Given the description of an element on the screen output the (x, y) to click on. 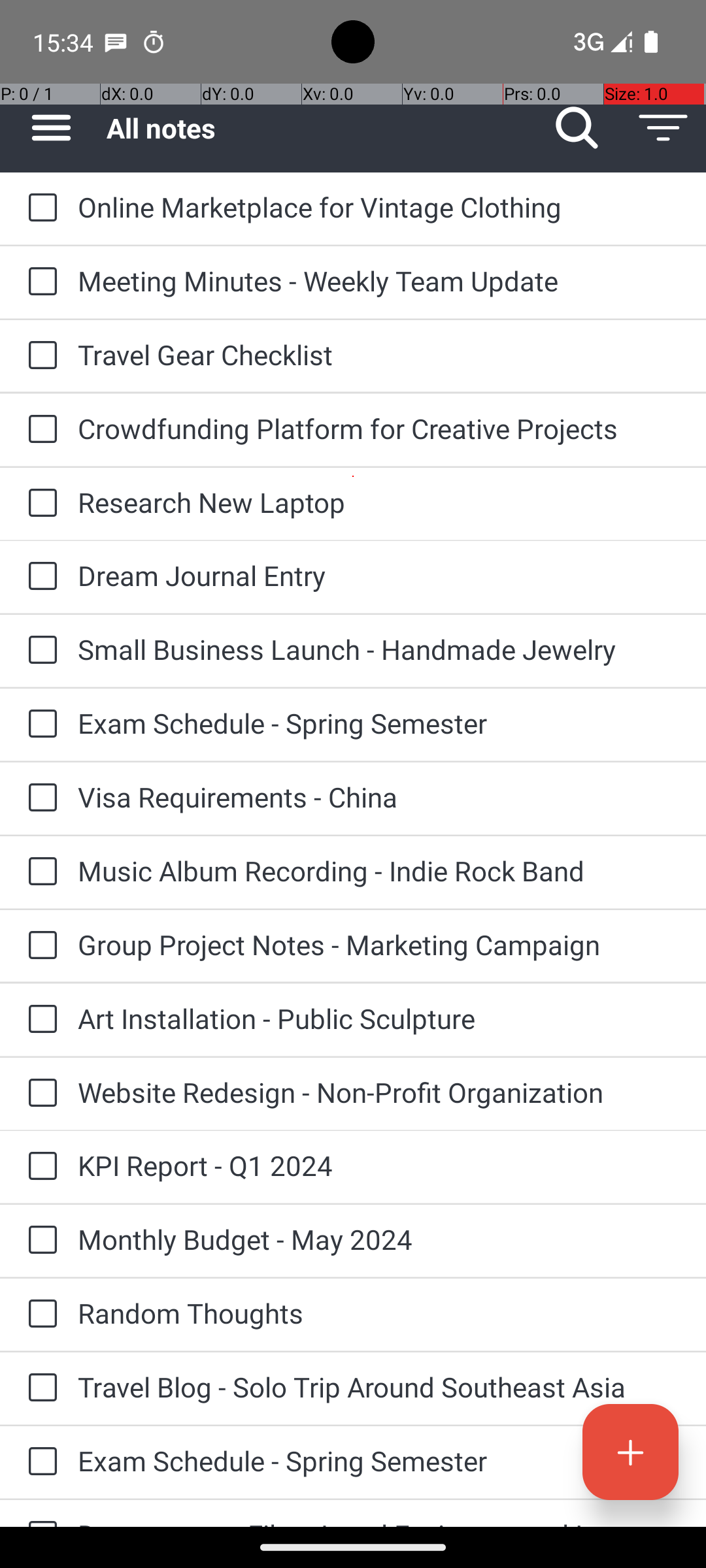
to-do: Meeting Minutes - Weekly Team Update Element type: android.widget.CheckBox (38, 282)
Meeting Minutes - Weekly Team Update Element type: android.widget.TextView (378, 280)
to-do: Travel Gear Checklist Element type: android.widget.CheckBox (38, 356)
Travel Gear Checklist Element type: android.widget.TextView (378, 354)
to-do: Crowdfunding Platform for Creative Projects Element type: android.widget.CheckBox (38, 429)
Crowdfunding Platform for Creative Projects Element type: android.widget.TextView (378, 427)
to-do: Research New Laptop Element type: android.widget.CheckBox (38, 503)
Research New Laptop Element type: android.widget.TextView (378, 501)
to-do: Dream Journal Entry Element type: android.widget.CheckBox (38, 576)
Dream Journal Entry Element type: android.widget.TextView (378, 574)
to-do: Small Business Launch - Handmade Jewelry Element type: android.widget.CheckBox (38, 650)
Small Business Launch - Handmade Jewelry Element type: android.widget.TextView (378, 648)
to-do: Exam Schedule - Spring Semester Element type: android.widget.CheckBox (38, 724)
Exam Schedule - Spring Semester Element type: android.widget.TextView (378, 722)
to-do: Visa Requirements - China Element type: android.widget.CheckBox (38, 798)
Visa Requirements - China Element type: android.widget.TextView (378, 796)
to-do: Music Album Recording - Indie Rock Band Element type: android.widget.CheckBox (38, 872)
Music Album Recording - Indie Rock Band Element type: android.widget.TextView (378, 870)
to-do: Art Installation - Public Sculpture Element type: android.widget.CheckBox (38, 1019)
Art Installation - Public Sculpture Element type: android.widget.TextView (378, 1017)
to-do: Website Redesign - Non-Profit Organization Element type: android.widget.CheckBox (38, 1093)
Website Redesign - Non-Profit Organization Element type: android.widget.TextView (378, 1091)
to-do: KPI Report - Q1 2024 Element type: android.widget.CheckBox (38, 1166)
KPI Report - Q1 2024 Element type: android.widget.TextView (378, 1164)
to-do: Monthly Budget - May 2024 Element type: android.widget.CheckBox (38, 1240)
Monthly Budget - May 2024 Element type: android.widget.TextView (378, 1238)
to-do: Random Thoughts Element type: android.widget.CheckBox (38, 1314)
Random Thoughts Element type: android.widget.TextView (378, 1312)
to-do: Travel Blog - Solo Trip Around Southeast Asia Element type: android.widget.CheckBox (38, 1388)
Travel Blog - Solo Trip Around Southeast Asia Element type: android.widget.TextView (378, 1386)
to-do: Documentary Film - Local Environmental Issues Element type: android.widget.CheckBox (38, 1513)
Documentary Film - Local Environmental Issues Element type: android.widget.TextView (378, 1520)
